Given the description of an element on the screen output the (x, y) to click on. 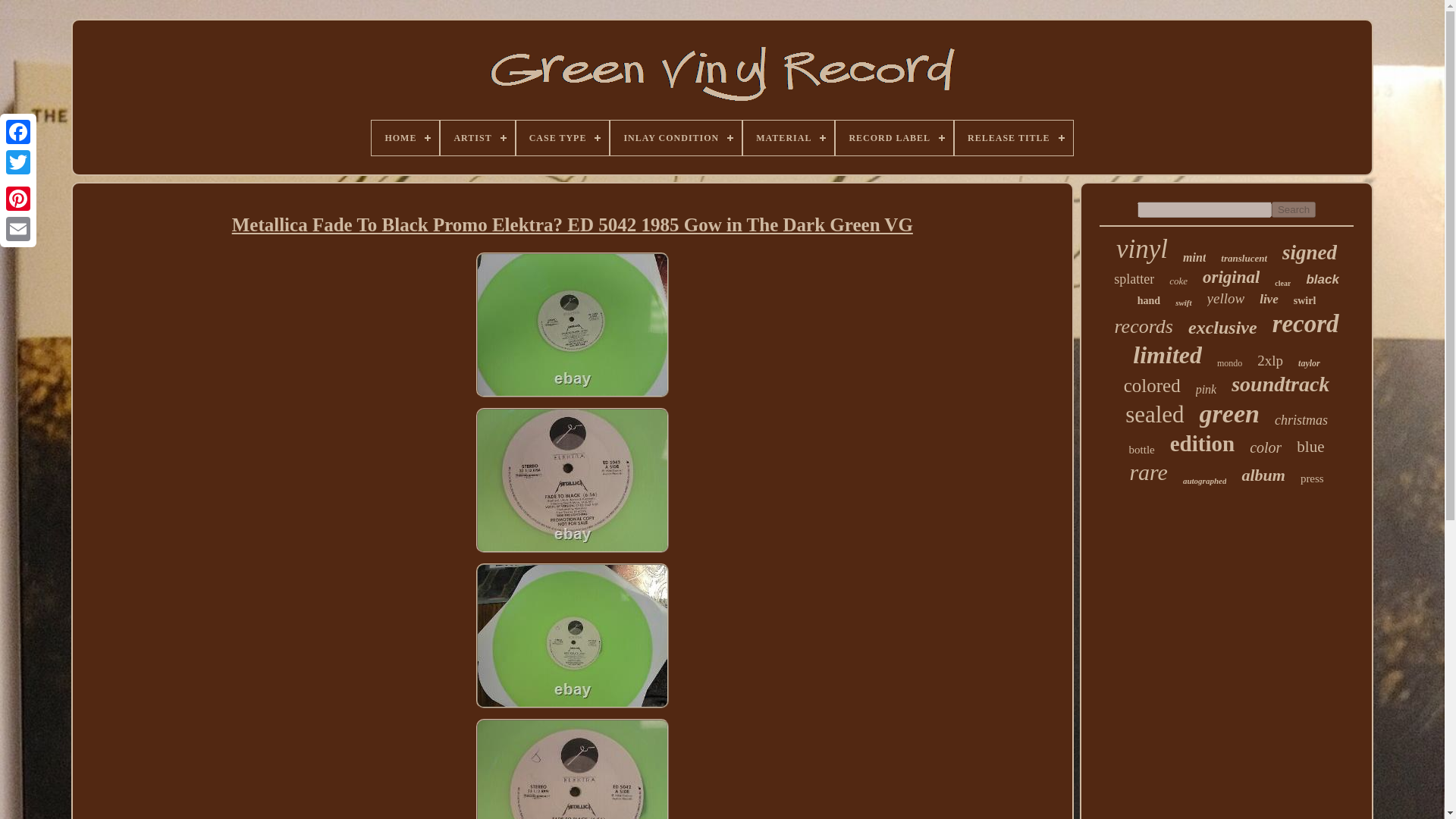
HOME (405, 137)
Search (1293, 209)
Email (17, 228)
CASE TYPE (563, 137)
ARTIST (477, 137)
